Given the description of an element on the screen output the (x, y) to click on. 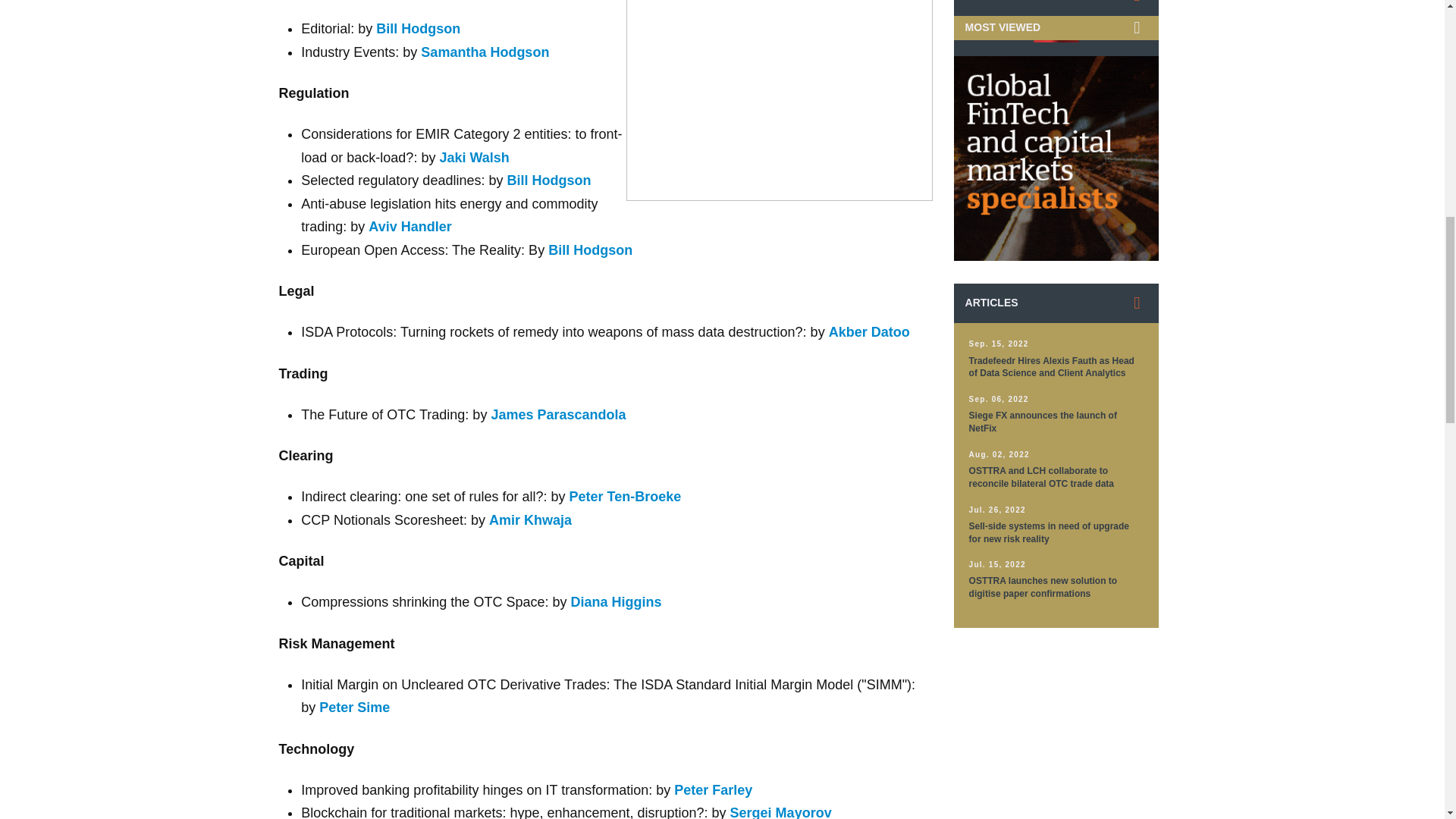
James Parascandola (558, 414)
Bill Hodgson (548, 180)
Diana Higgins (615, 601)
Jaki Walsh (473, 157)
Peter Sime (354, 707)
Peter Farley (713, 789)
Akber Datoo (869, 331)
Peter Ten-Broeke (625, 496)
Sergei Mayorov (780, 812)
Aviv Handler (409, 226)
Bill Hodgson (589, 249)
Amir Khwaja (530, 519)
Bill Hodgson (417, 28)
Samantha Hodgson (484, 52)
